Given the description of an element on the screen output the (x, y) to click on. 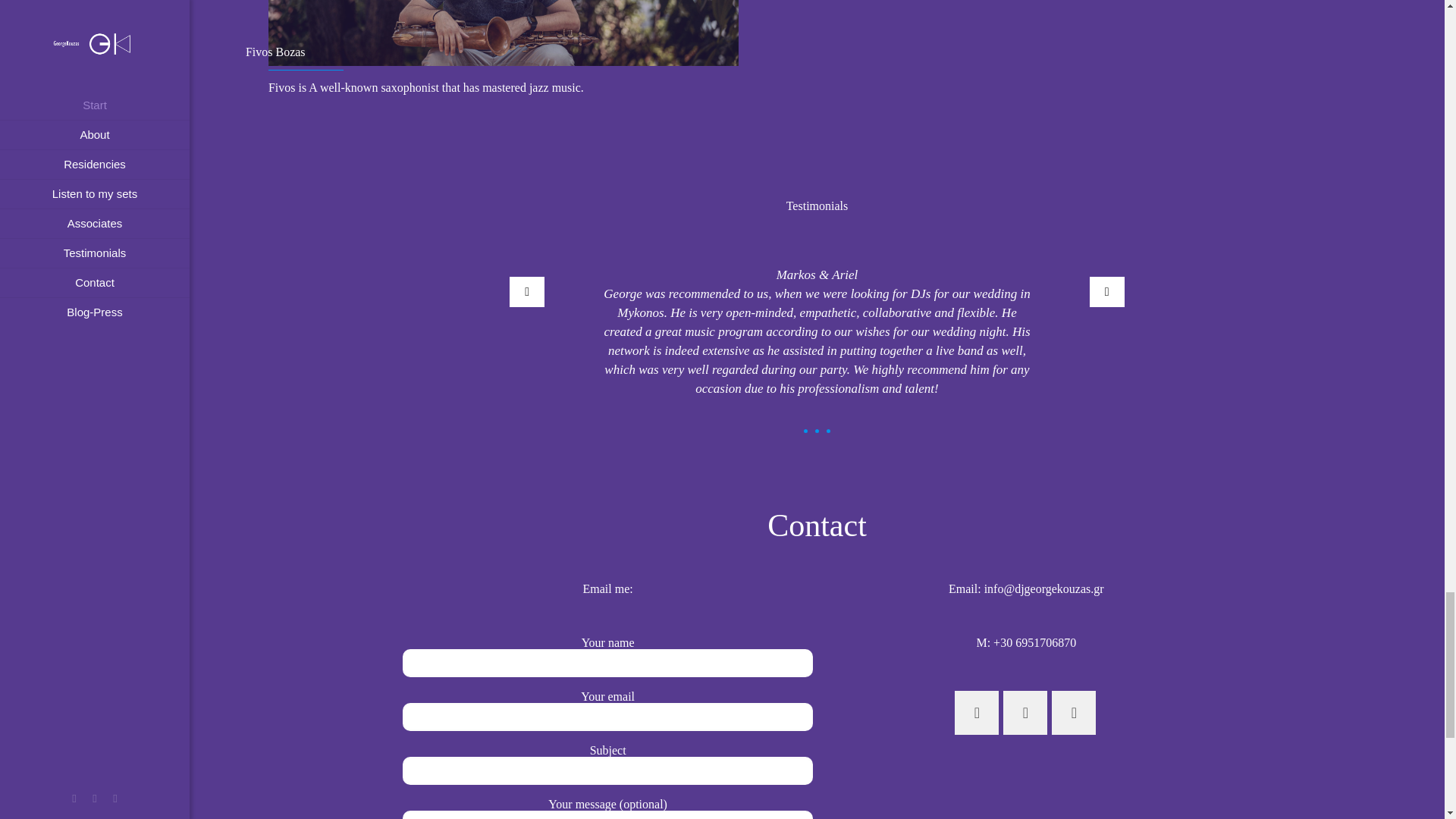
Fivos Bozas (502, 35)
